Given the description of an element on the screen output the (x, y) to click on. 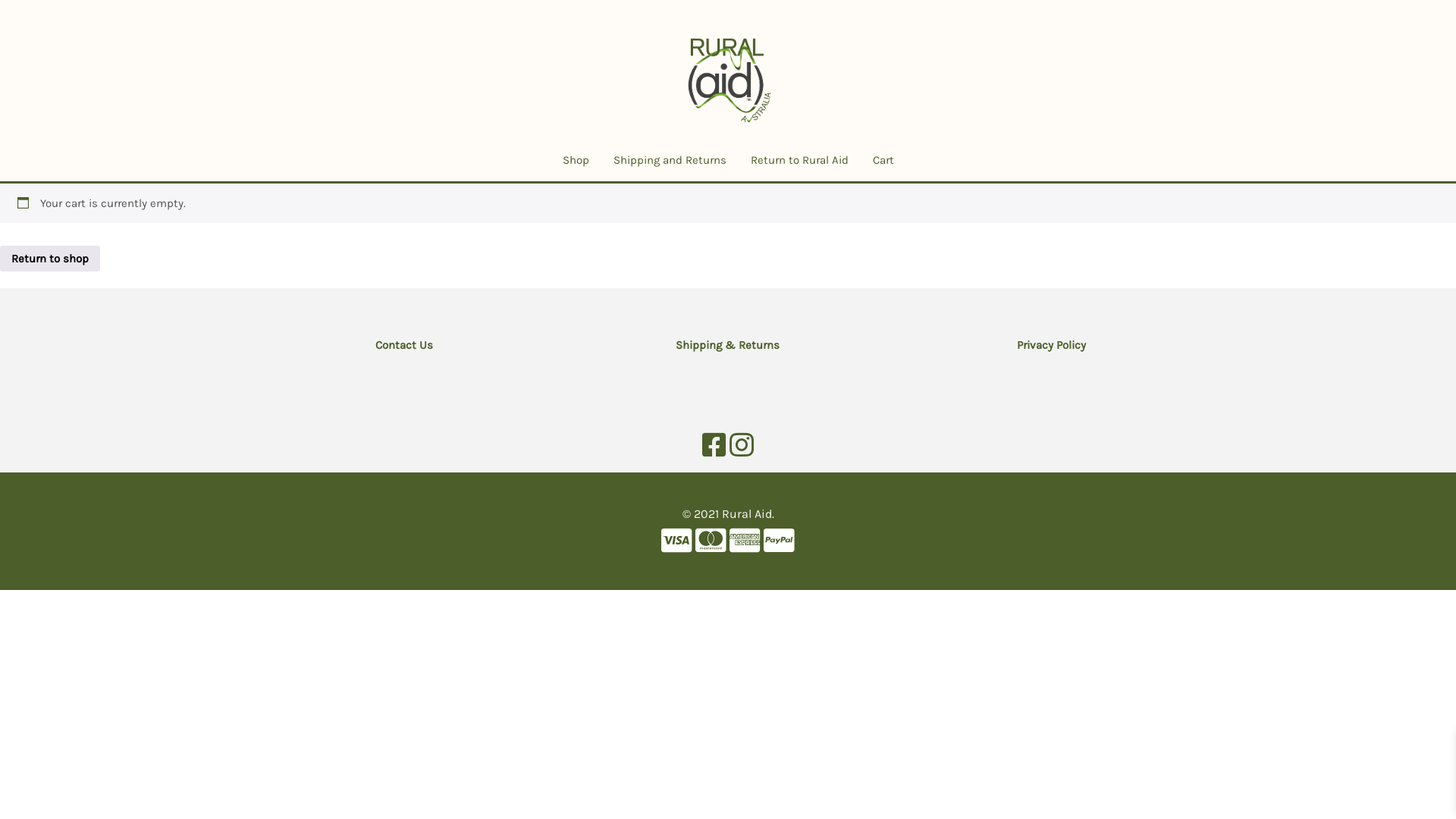
Shipping and Returns Element type: text (668, 160)
Return to shop Element type: text (50, 258)
Shipping & Returns Element type: text (727, 345)
Return to Rural Aid Element type: text (799, 160)
Cart Element type: text (882, 160)
Shop Element type: text (575, 160)
Contact Us Element type: text (404, 345)
Privacy Policy Element type: text (1050, 345)
